Given the description of an element on the screen output the (x, y) to click on. 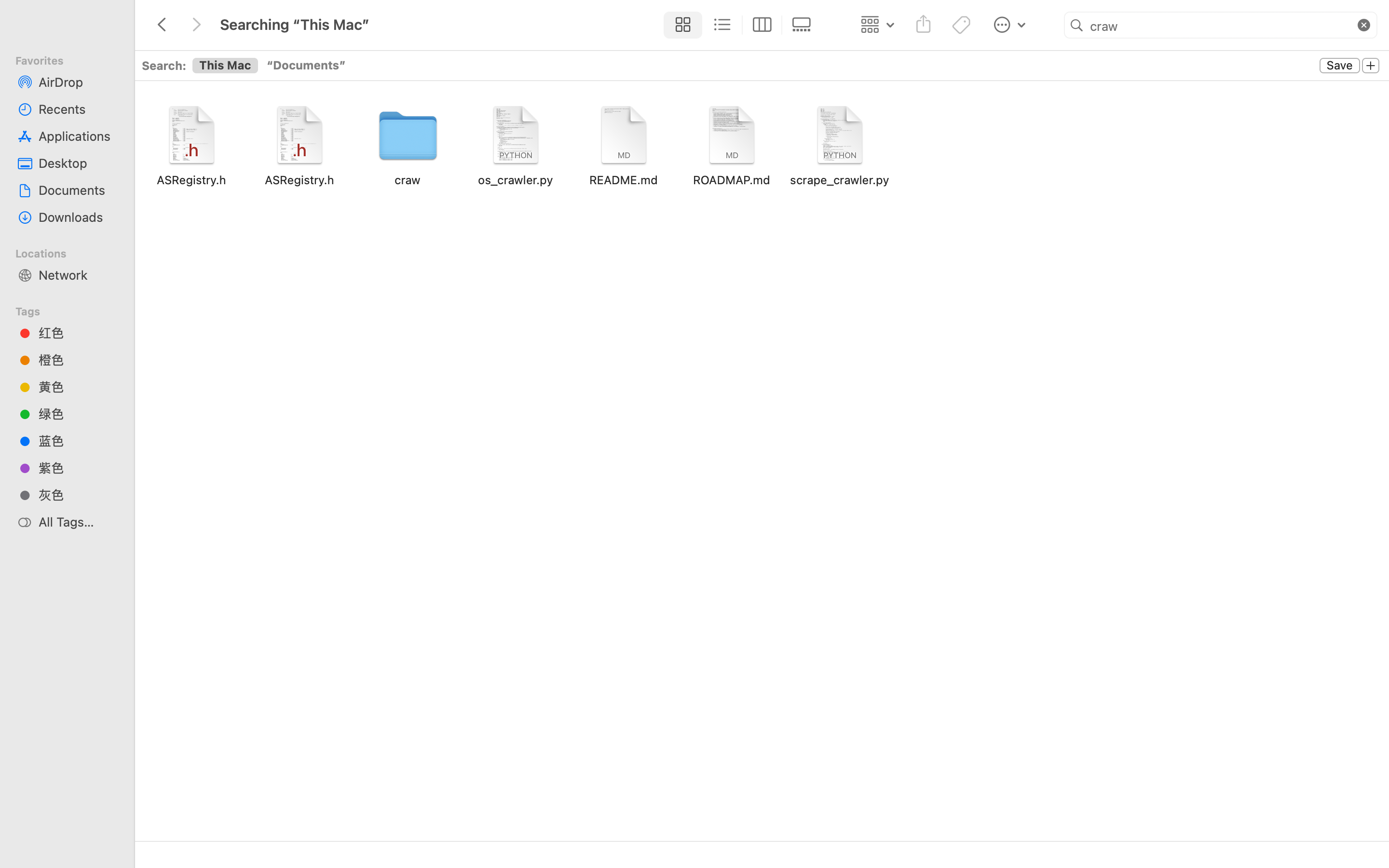
红色 Element type: AXStaticText (77, 332)
1 Element type: AXRadioButton (680, 24)
